Given the description of an element on the screen output the (x, y) to click on. 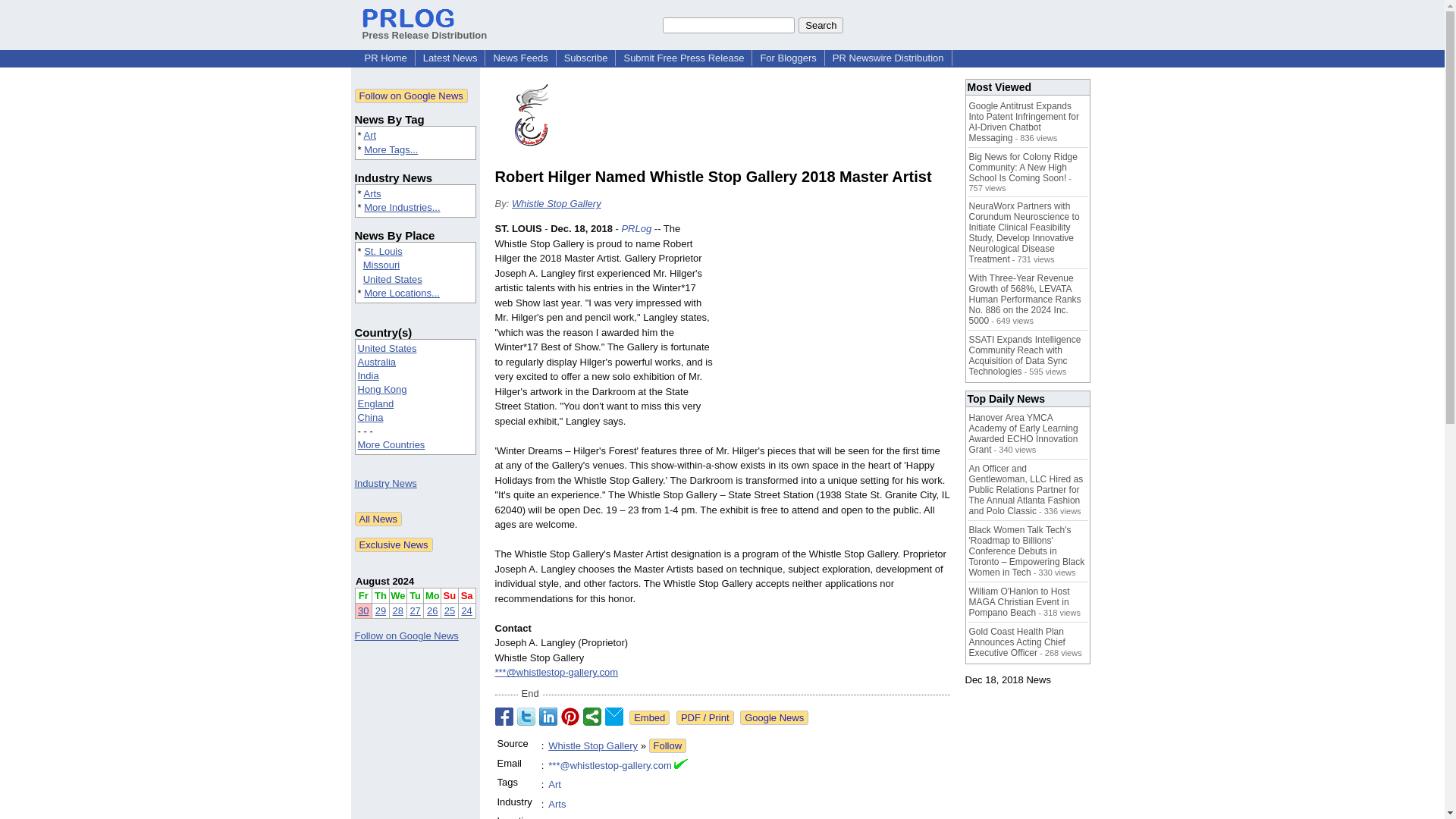
Email Verified (680, 765)
More Locations... (401, 292)
Latest News (449, 57)
Search (820, 24)
Advertisement (835, 332)
24 (466, 610)
See or print the PDF version! (705, 717)
25 (449, 610)
More Industries... (401, 206)
